Given the description of an element on the screen output the (x, y) to click on. 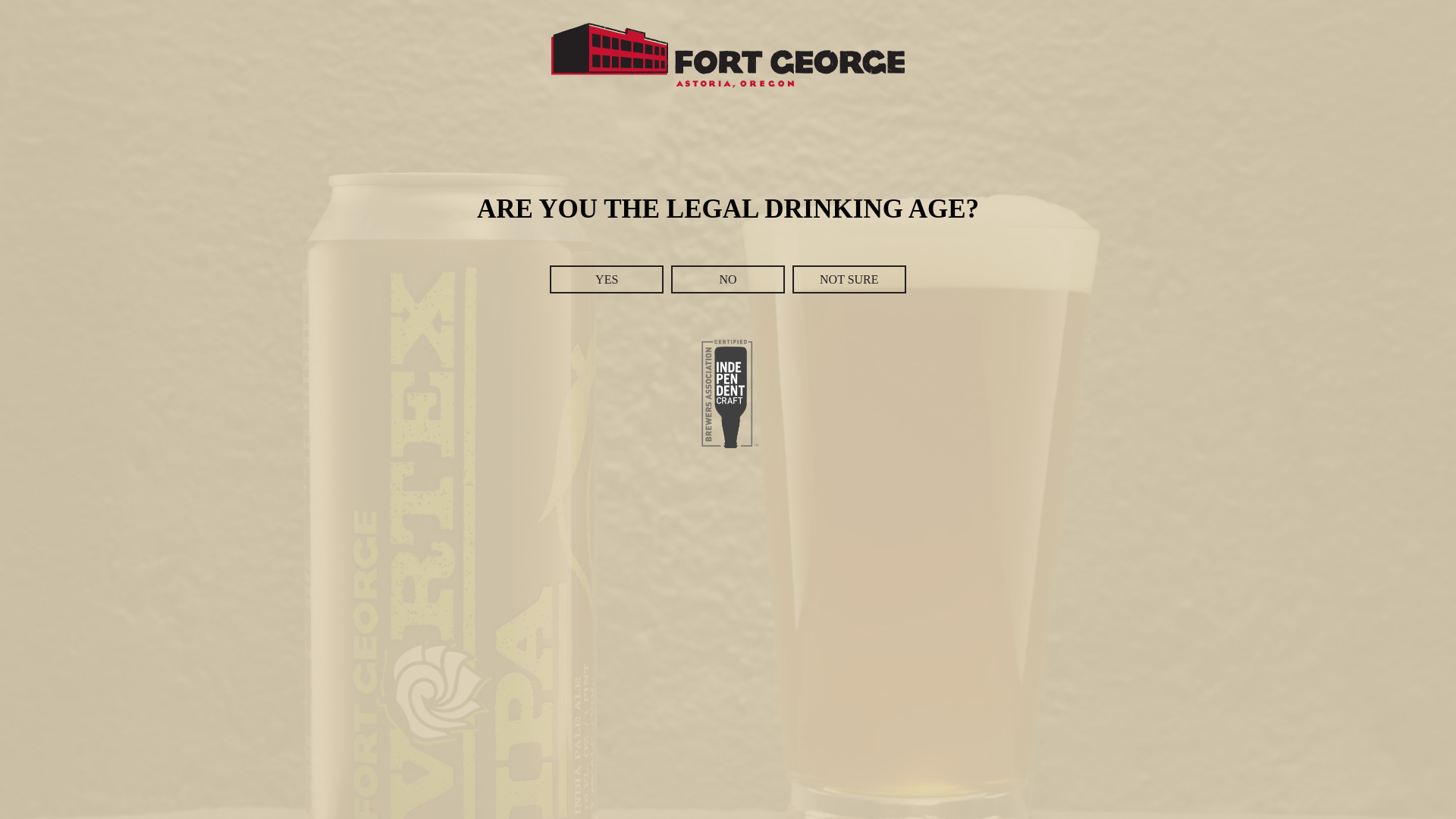
NO (727, 279)
NOT SURE (848, 279)
YES (606, 279)
